Given the description of an element on the screen output the (x, y) to click on. 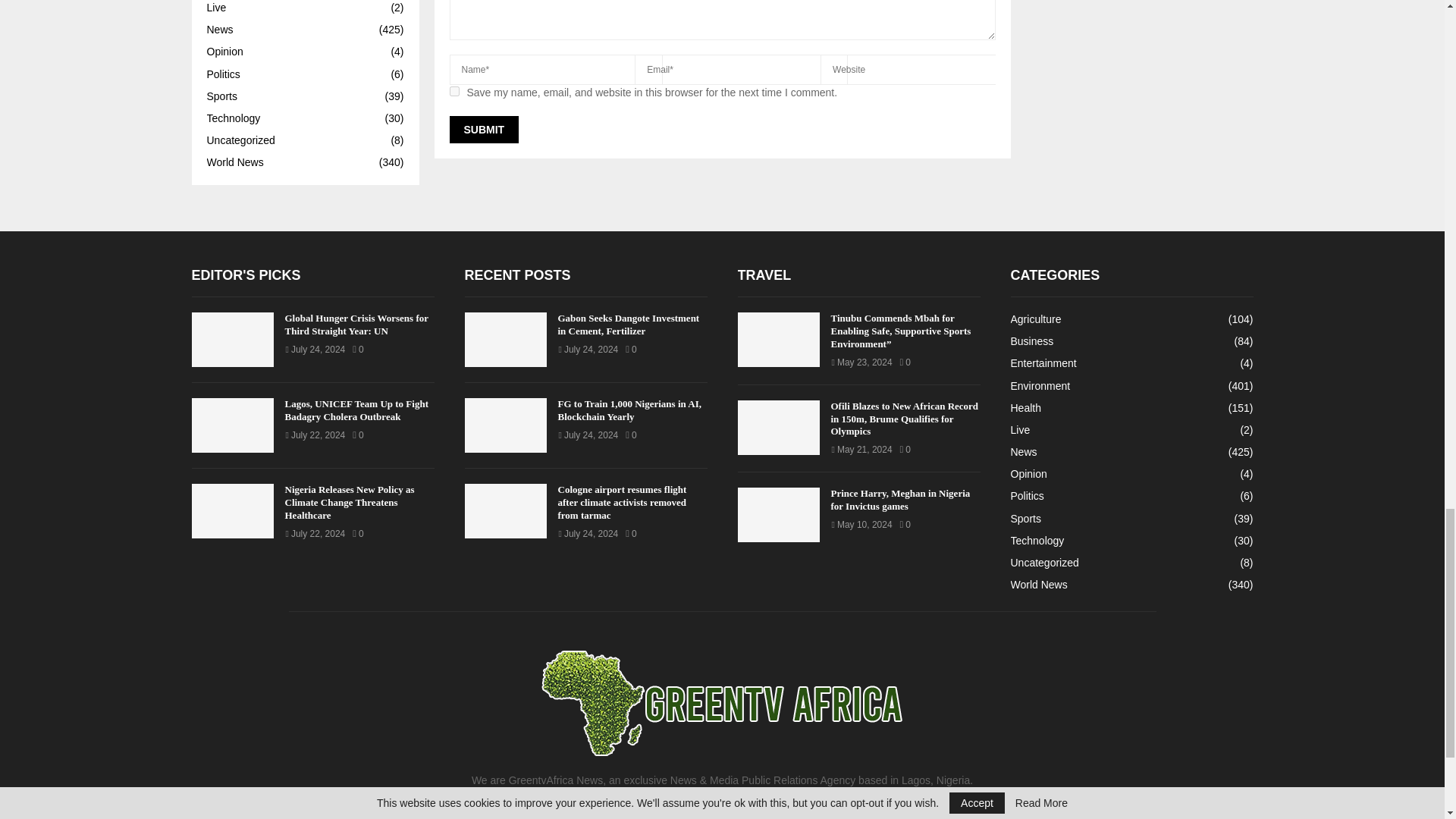
yes (453, 91)
Submit (483, 129)
